Given the description of an element on the screen output the (x, y) to click on. 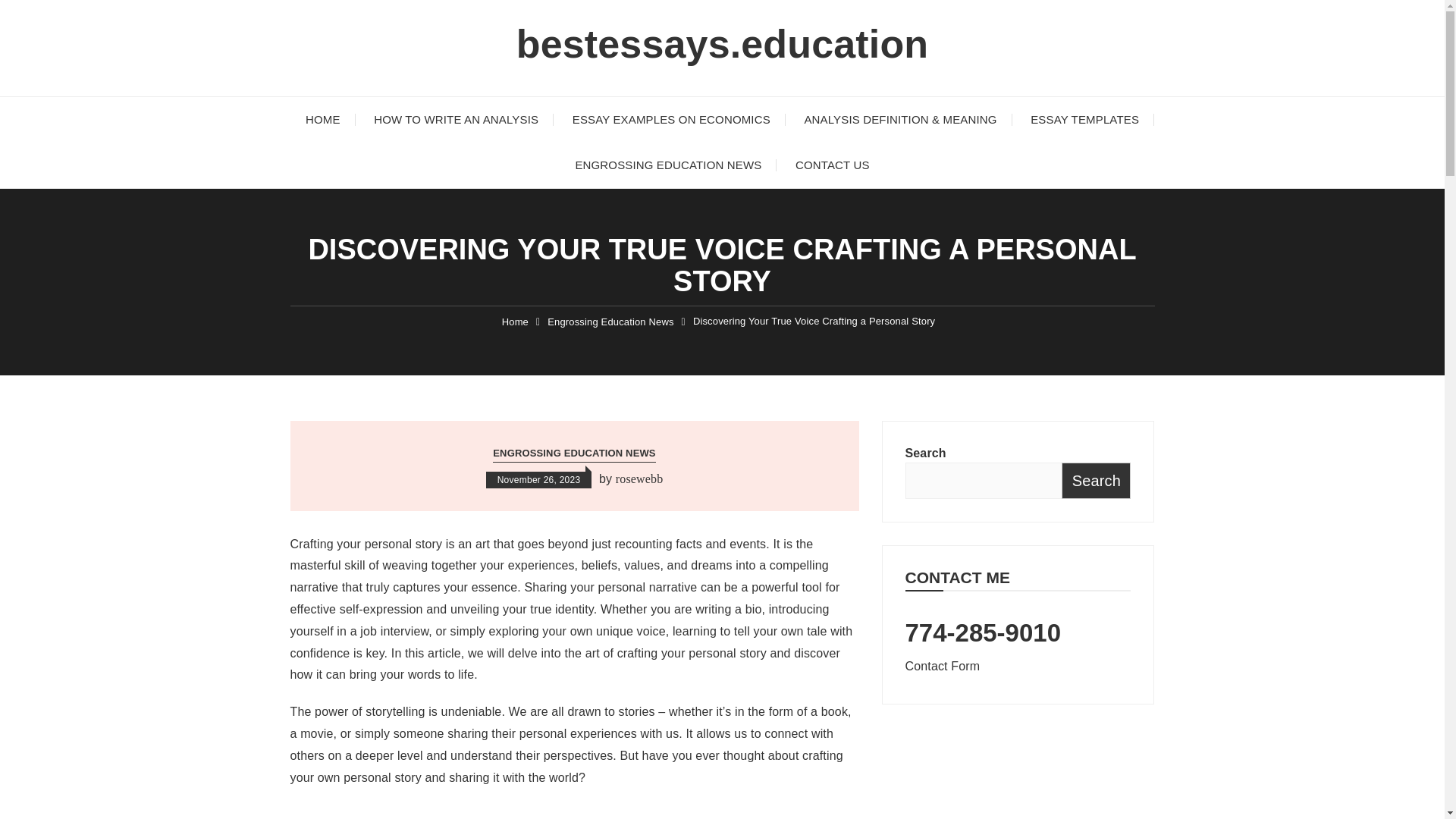
Engrossing Education News (609, 322)
HOW TO WRITE AN ANALYSIS (455, 119)
Search (1096, 480)
Contact Form (942, 666)
ESSAY TEMPLATES (1084, 119)
rosewebb (639, 479)
ESSAY EXAMPLES ON ECONOMICS (671, 119)
bestessays.education (722, 44)
November 26, 2023 (539, 479)
ENGROSSING EDUCATION NEWS (574, 453)
